Given the description of an element on the screen output the (x, y) to click on. 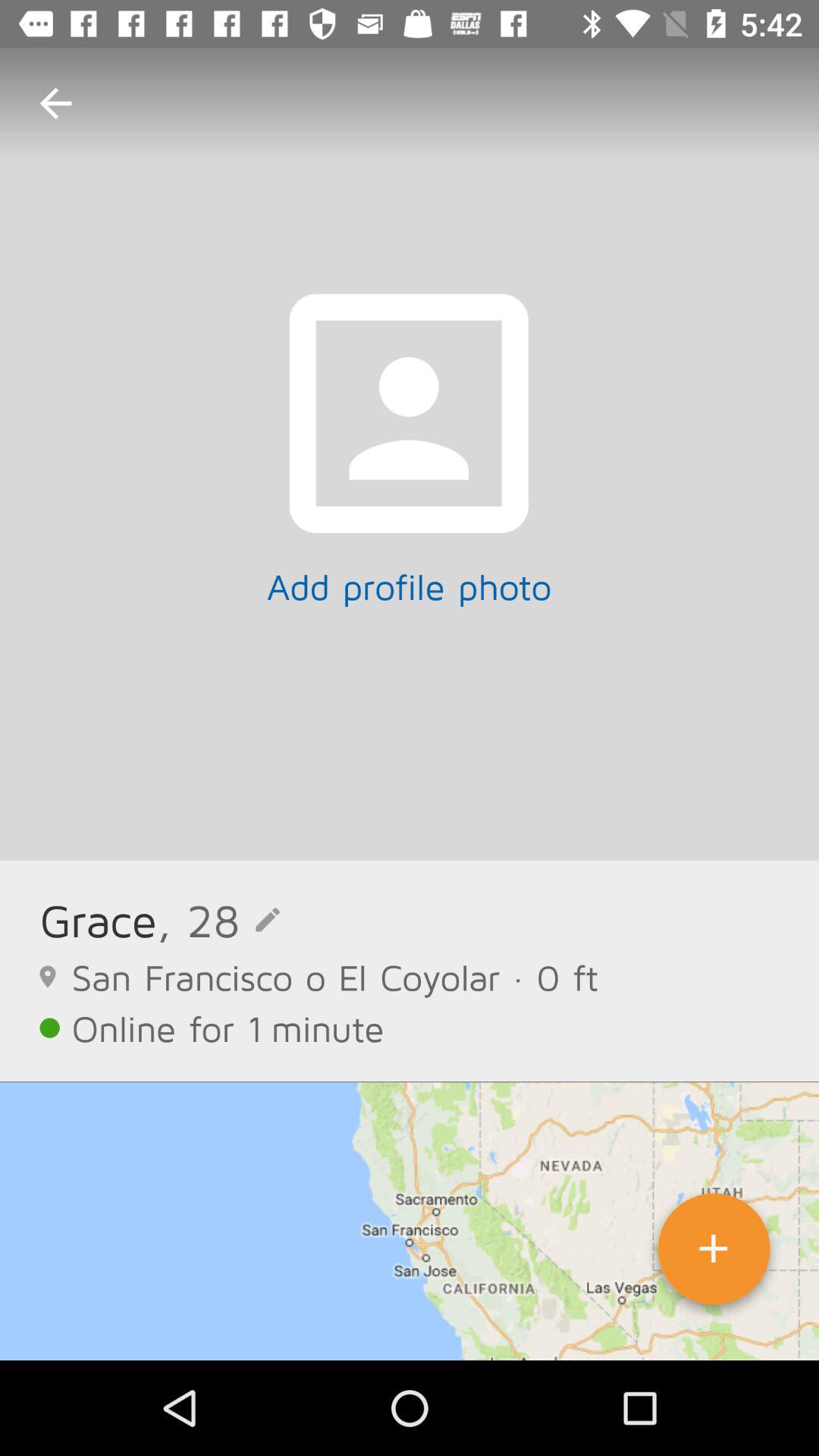
choose , 28 icon (217, 919)
